Given the description of an element on the screen output the (x, y) to click on. 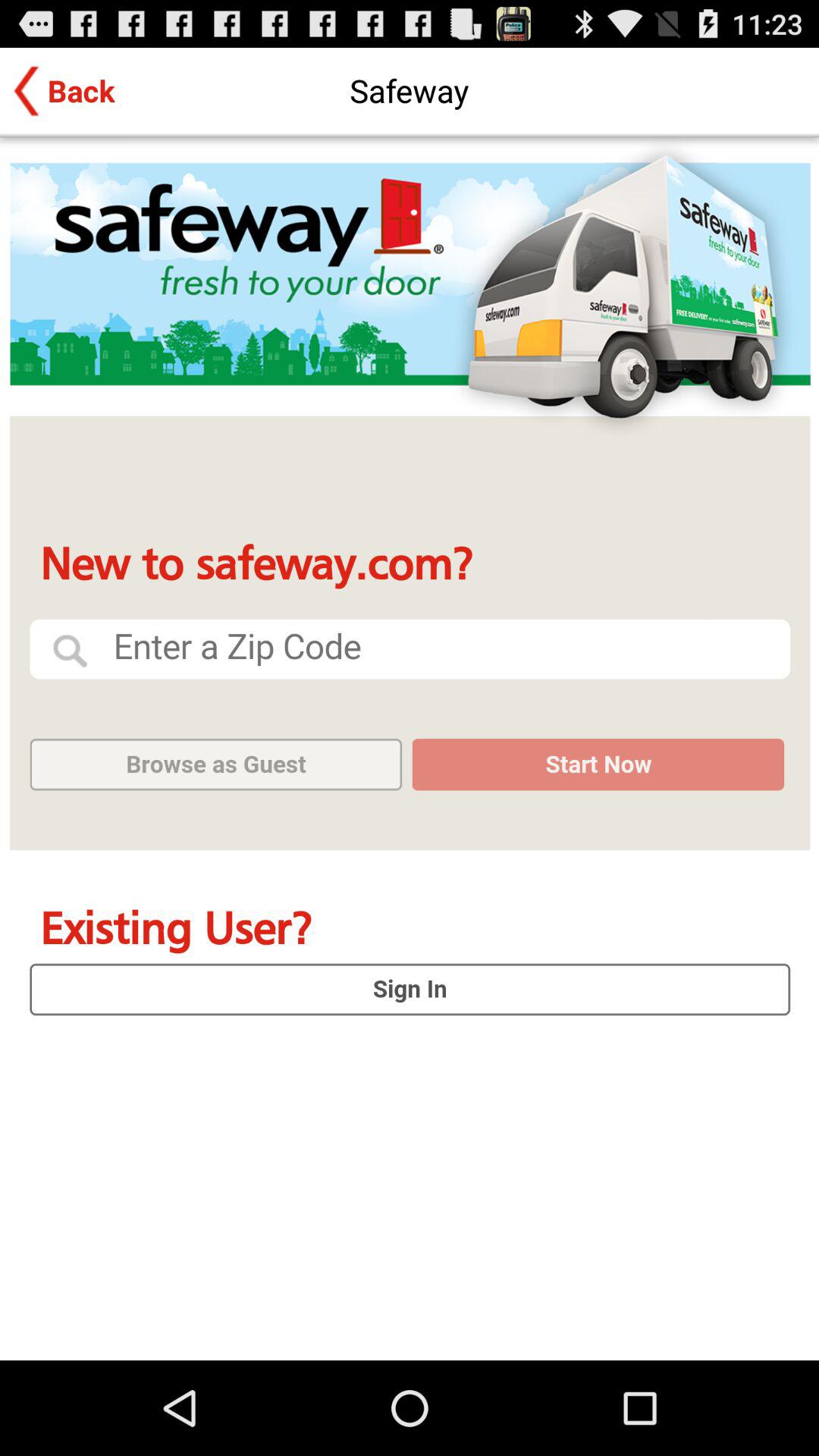
sign in (409, 748)
